Given the description of an element on the screen output the (x, y) to click on. 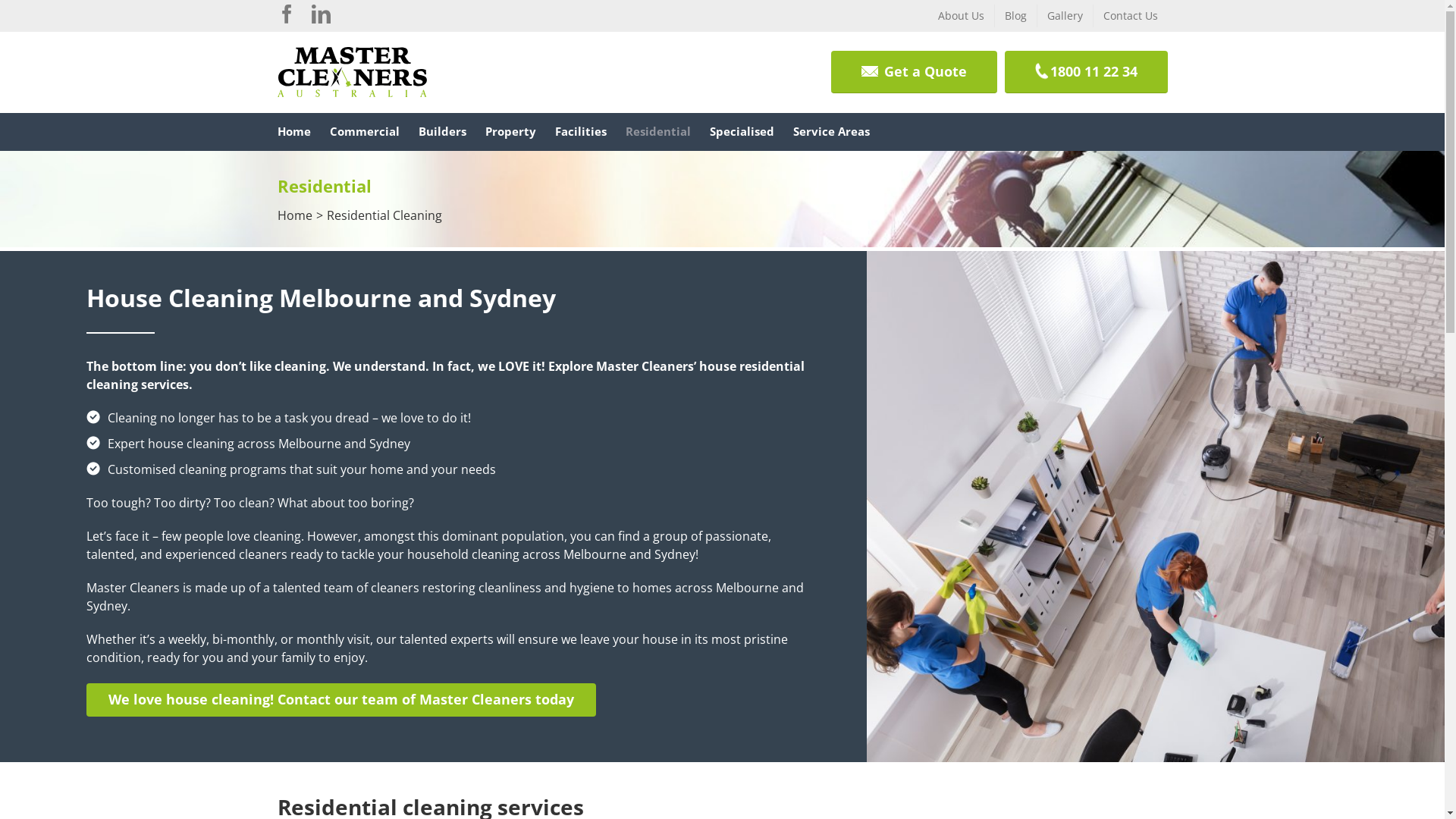
Commercial Element type: text (363, 131)
Blog Element type: text (1015, 15)
Specialised Element type: text (741, 131)
Get a Quote Element type: text (914, 71)
Service Areas Element type: text (831, 131)
Home Element type: text (294, 215)
About Us Element type: text (961, 15)
1800 11 22 34 Element type: text (1085, 71)
Builders Element type: text (442, 131)
Linkedin Element type: text (319, 13)
Residential Element type: text (657, 131)
Gallery Element type: text (1064, 15)
Facilities Element type: text (580, 131)
Property Element type: text (510, 131)
Contact Us Element type: text (1130, 15)
Facebook Element type: text (286, 13)
Home Element type: text (293, 131)
